Given the description of an element on the screen output the (x, y) to click on. 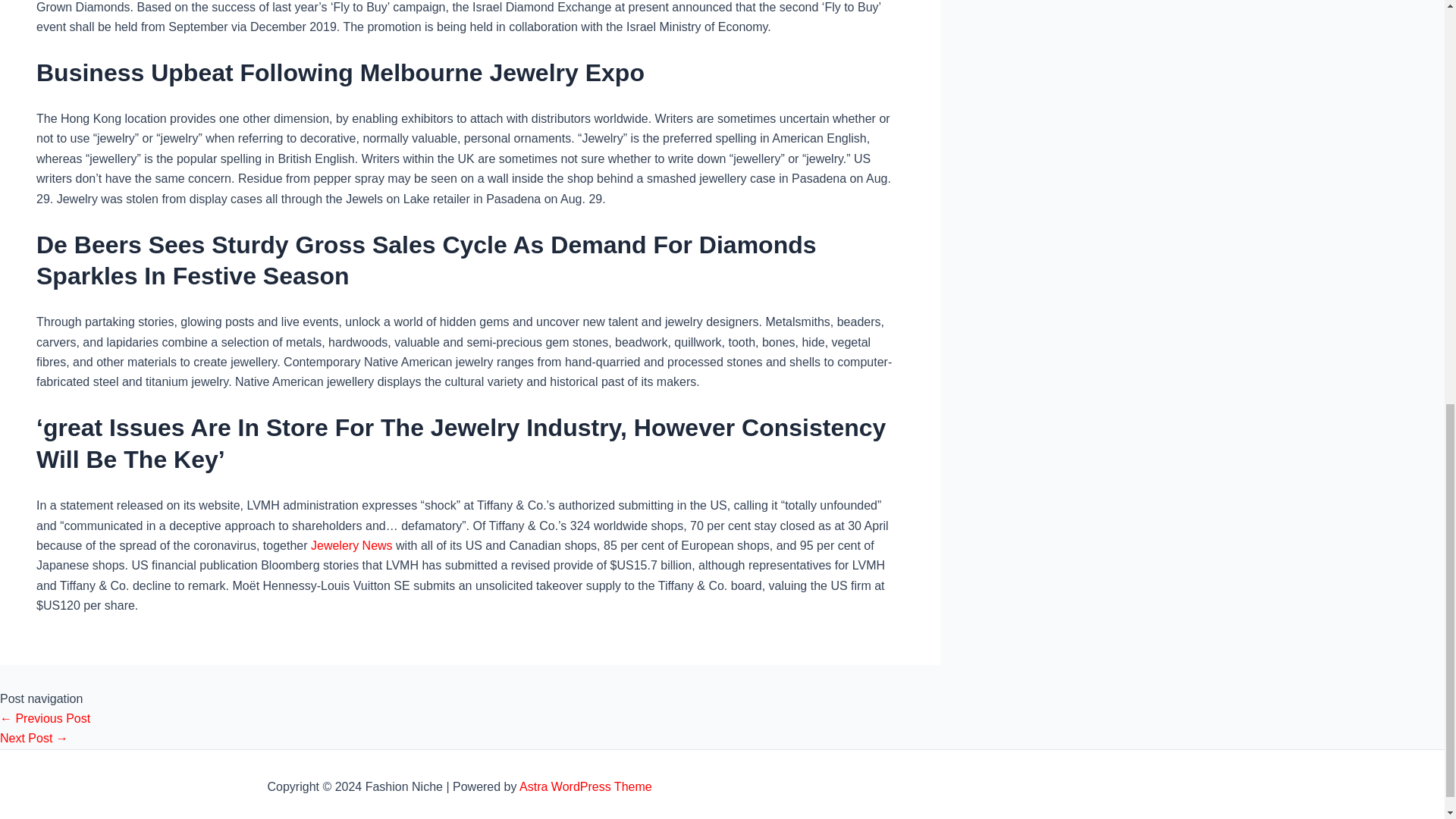
Jewelery News (352, 545)
Astra WordPress Theme (585, 786)
